Given the description of an element on the screen output the (x, y) to click on. 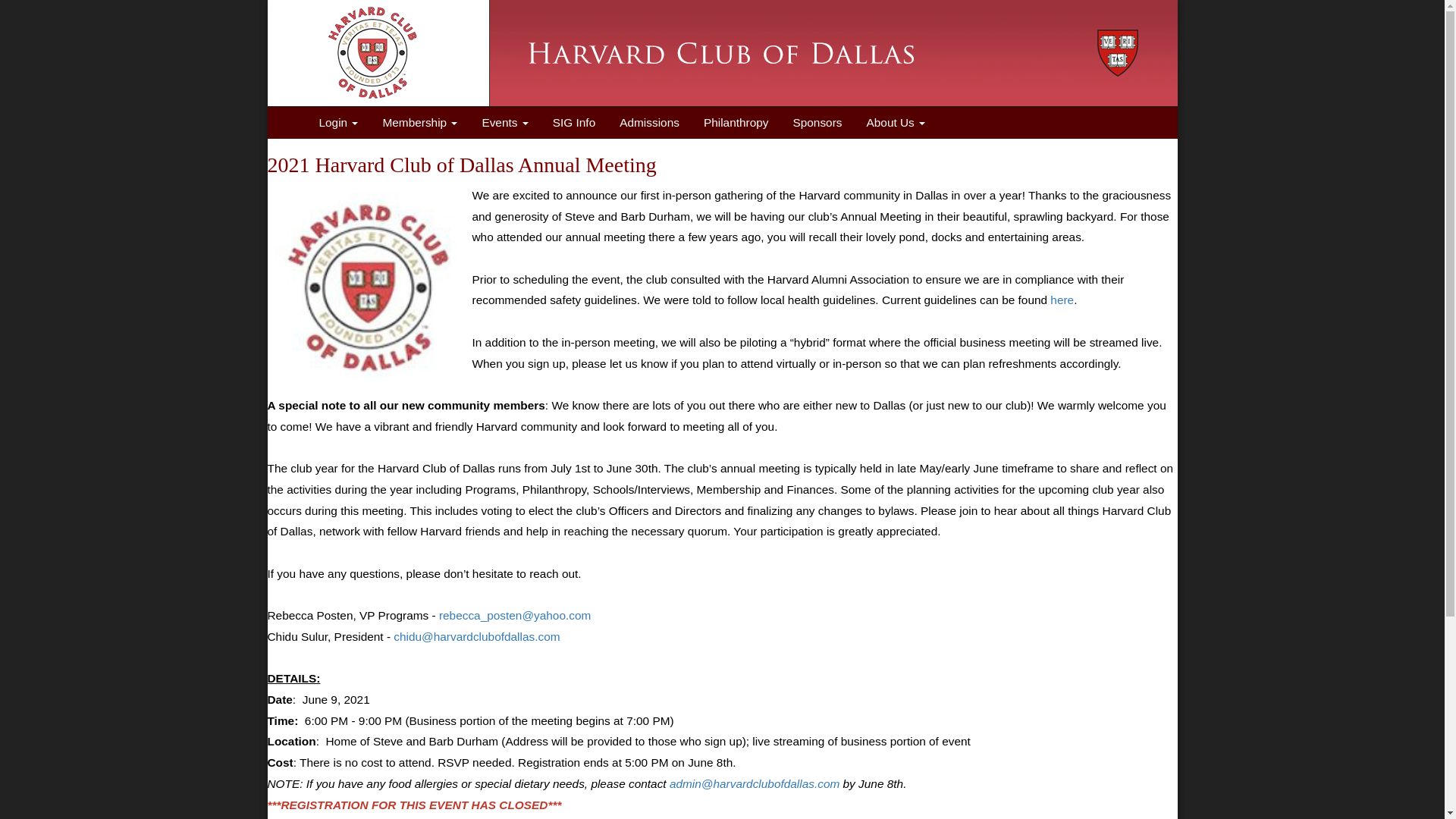
Events (504, 122)
SIG Info (573, 122)
About Us (896, 122)
Membership (419, 122)
Philanthropy (735, 122)
Sponsors (816, 122)
Login (338, 122)
here (1061, 299)
Admissions (649, 122)
